Given the description of an element on the screen output the (x, y) to click on. 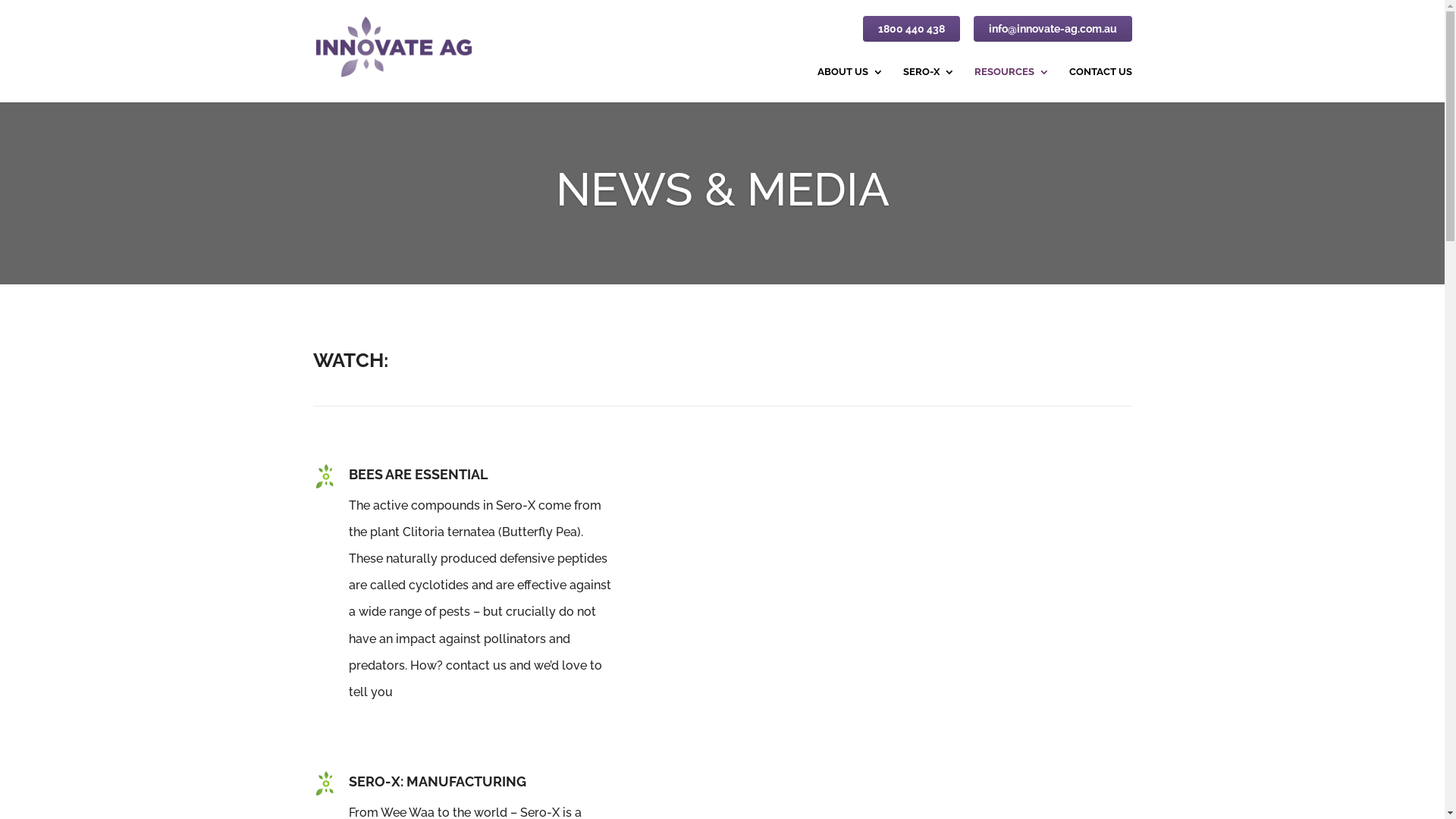
vimeo-player Element type: hover (894, 597)
1800 440 438 Element type: text (911, 31)
CONTACT US Element type: text (1100, 84)
RESOURCES Element type: text (1010, 84)
info@innovate-ag.com.au Element type: text (1052, 31)
ABOUT US Element type: text (850, 84)
SERO-X Element type: text (927, 84)
